Given the description of an element on the screen output the (x, y) to click on. 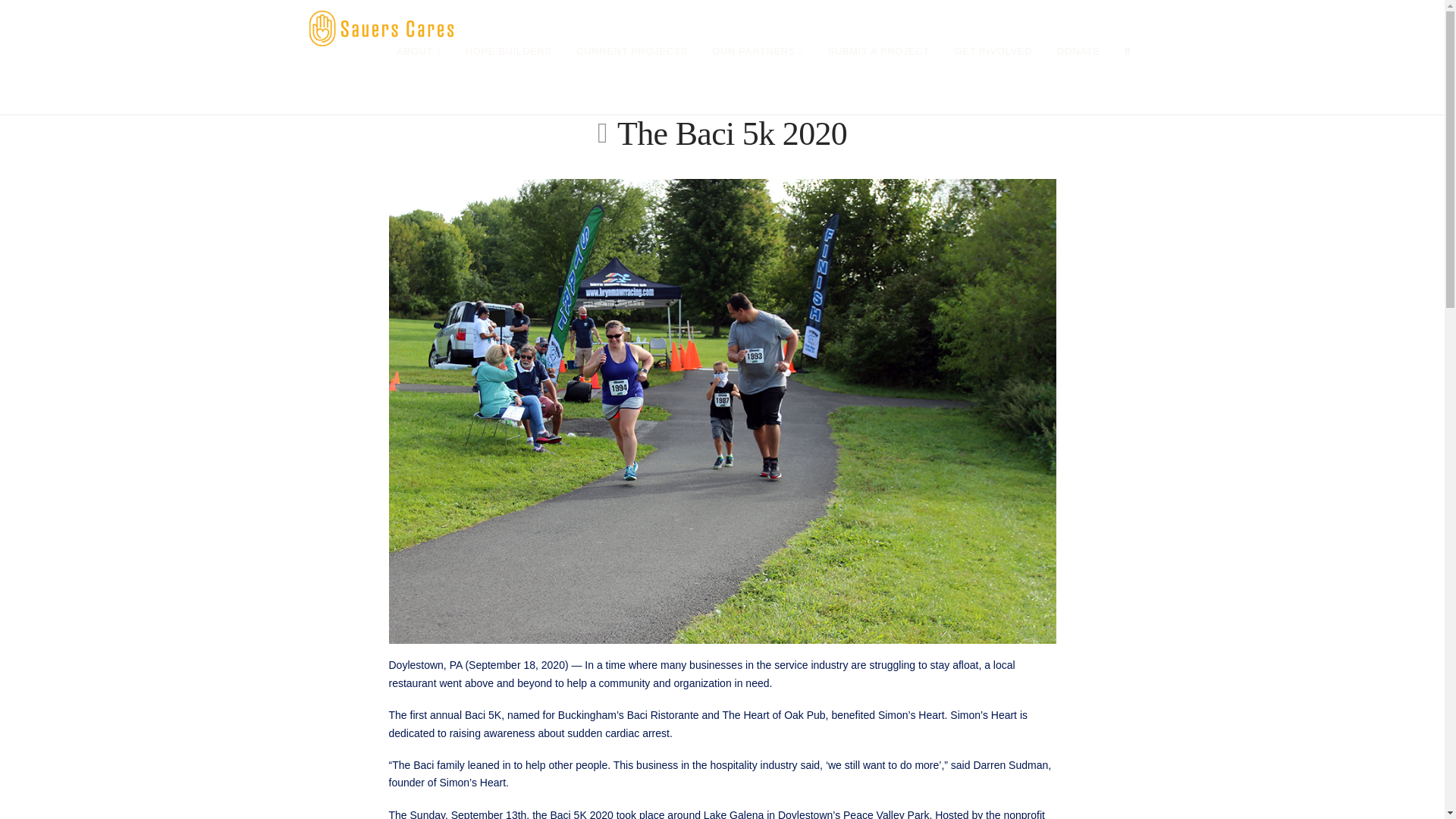
ABOUT (418, 79)
SUBMIT A PROJECT (877, 79)
OUR PARTNERS (756, 79)
GET INVOLVED (992, 79)
CURRENT PROJECTS (631, 79)
HOPE BUILDERS (507, 79)
DONATE (1078, 79)
